Given the description of an element on the screen output the (x, y) to click on. 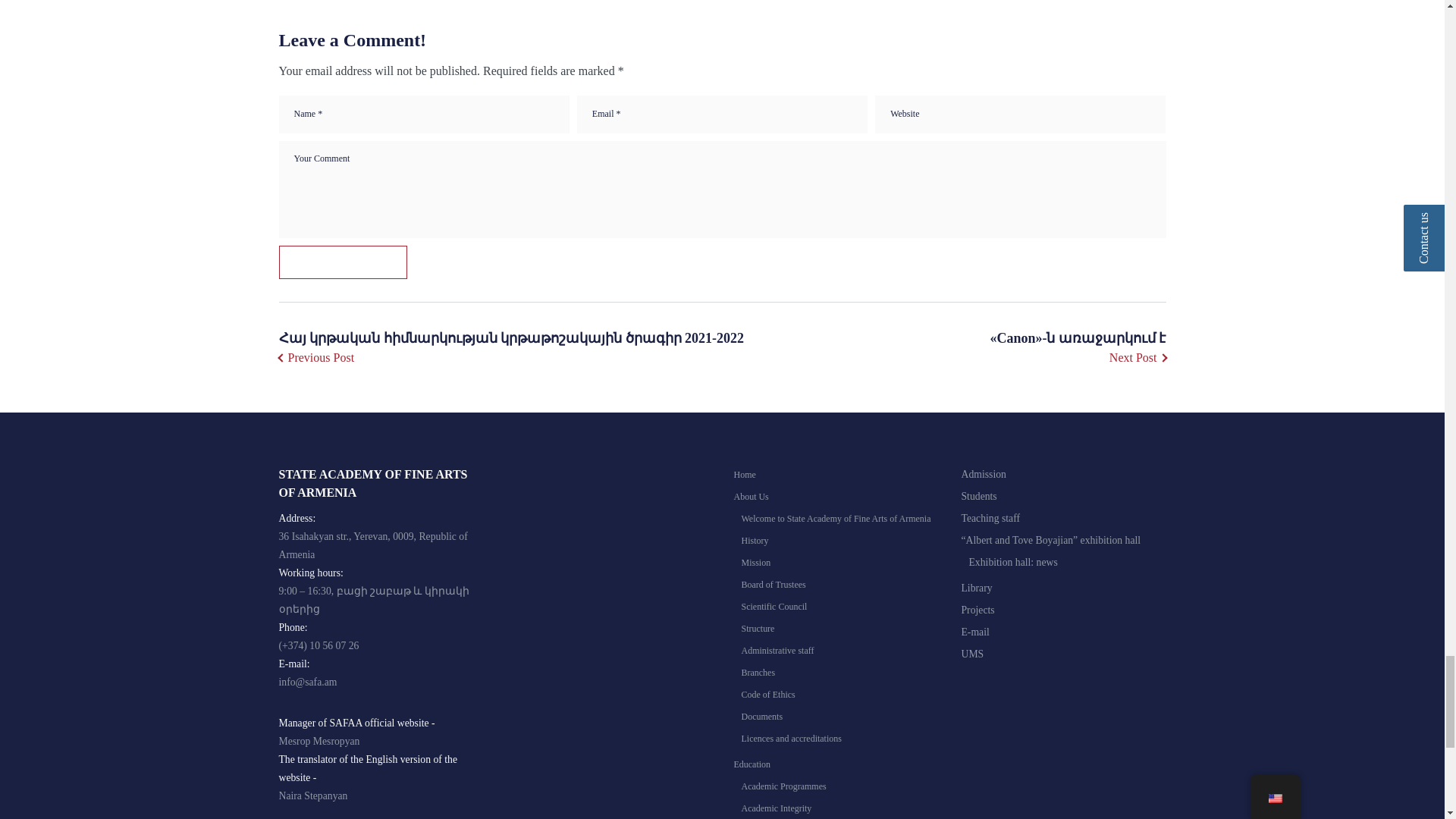
Website (1020, 114)
Post comment (343, 262)
